Given the description of an element on the screen output the (x, y) to click on. 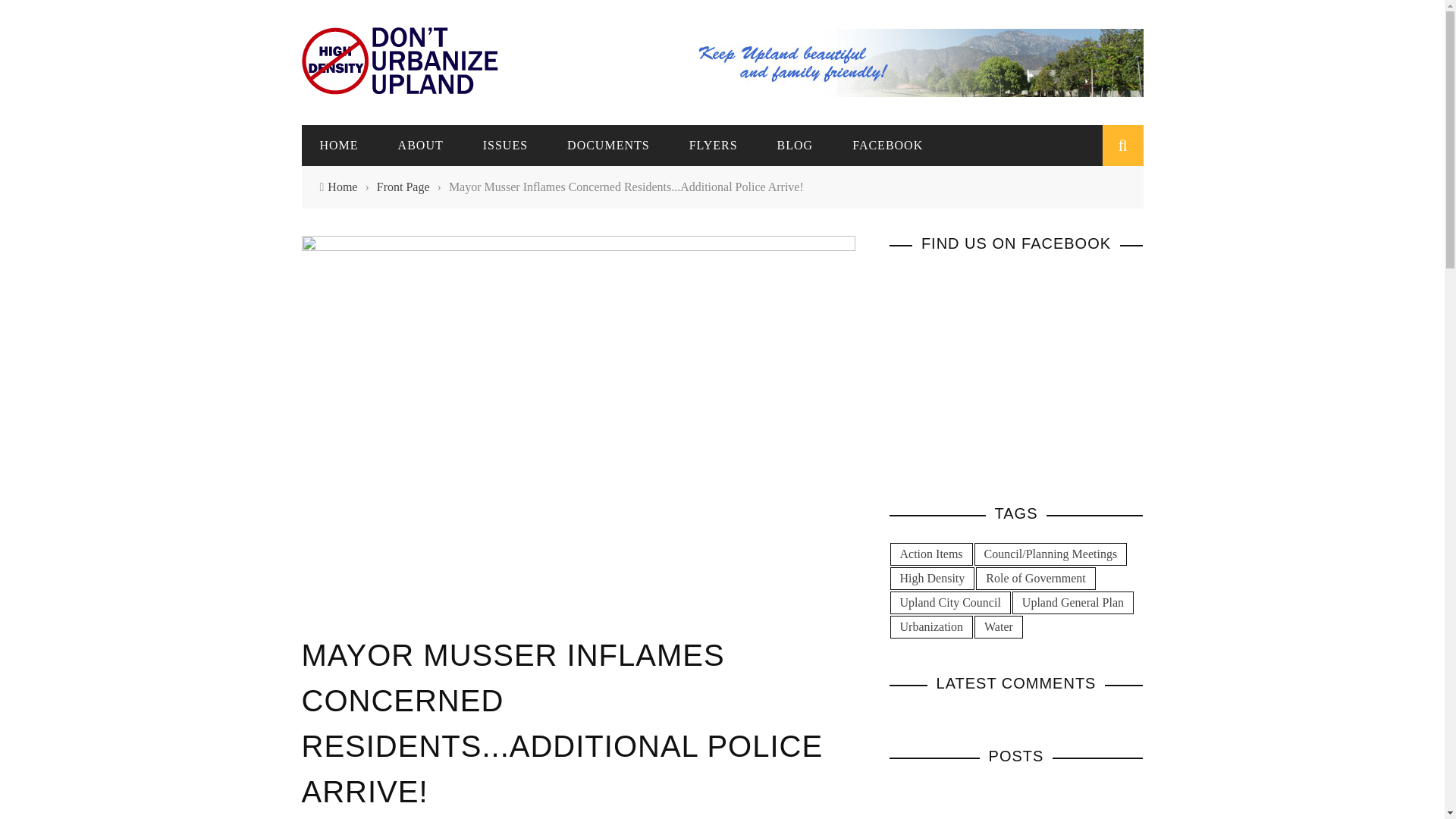
40 topics (932, 578)
20 topics (1035, 578)
56 topics (1072, 602)
1 topic (949, 602)
43 topics (931, 626)
24 topics (930, 553)
30 topics (1050, 553)
15 topics (998, 626)
